Given the description of an element on the screen output the (x, y) to click on. 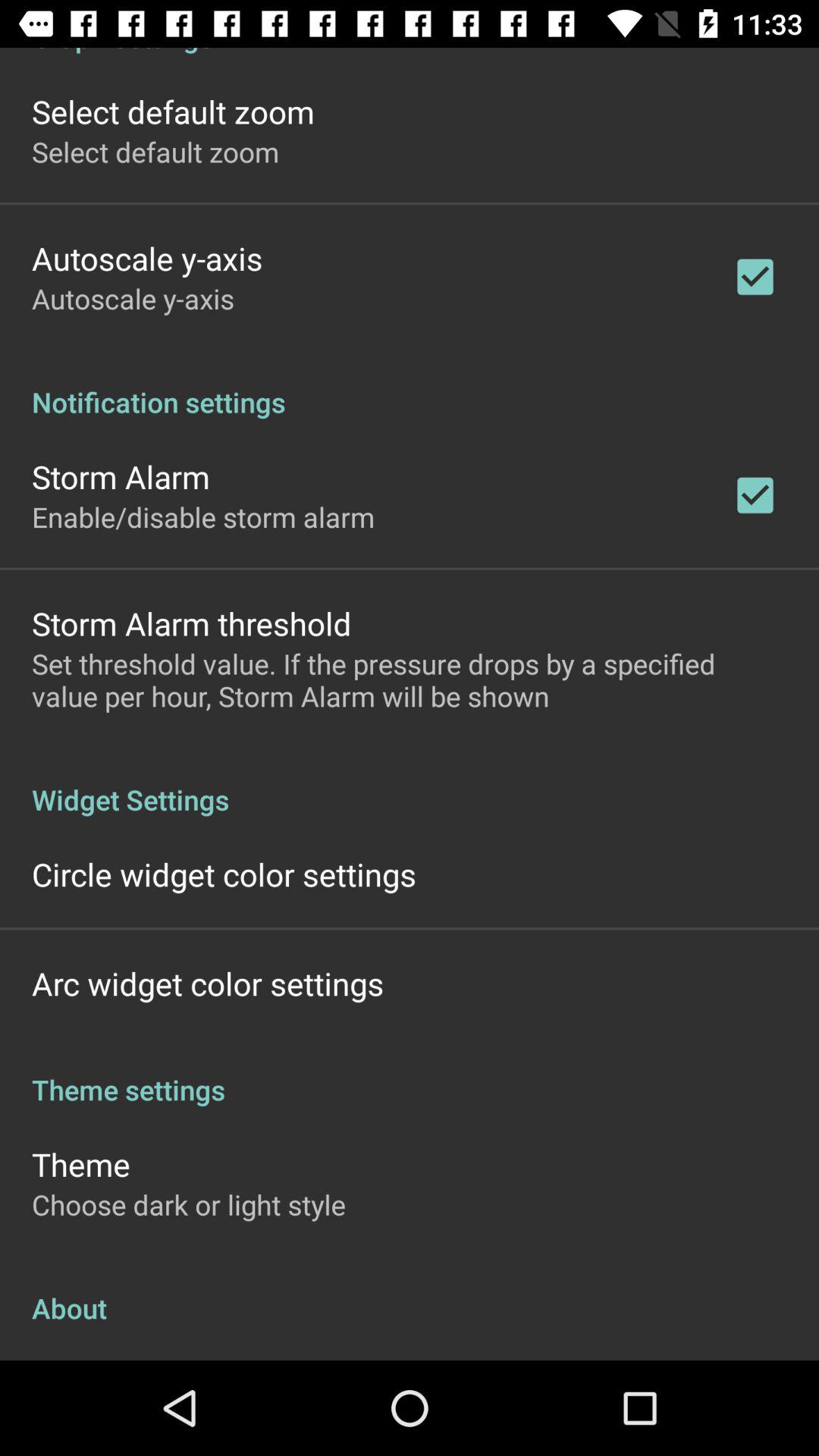
turn off the choose dark or app (188, 1204)
